Given the description of an element on the screen output the (x, y) to click on. 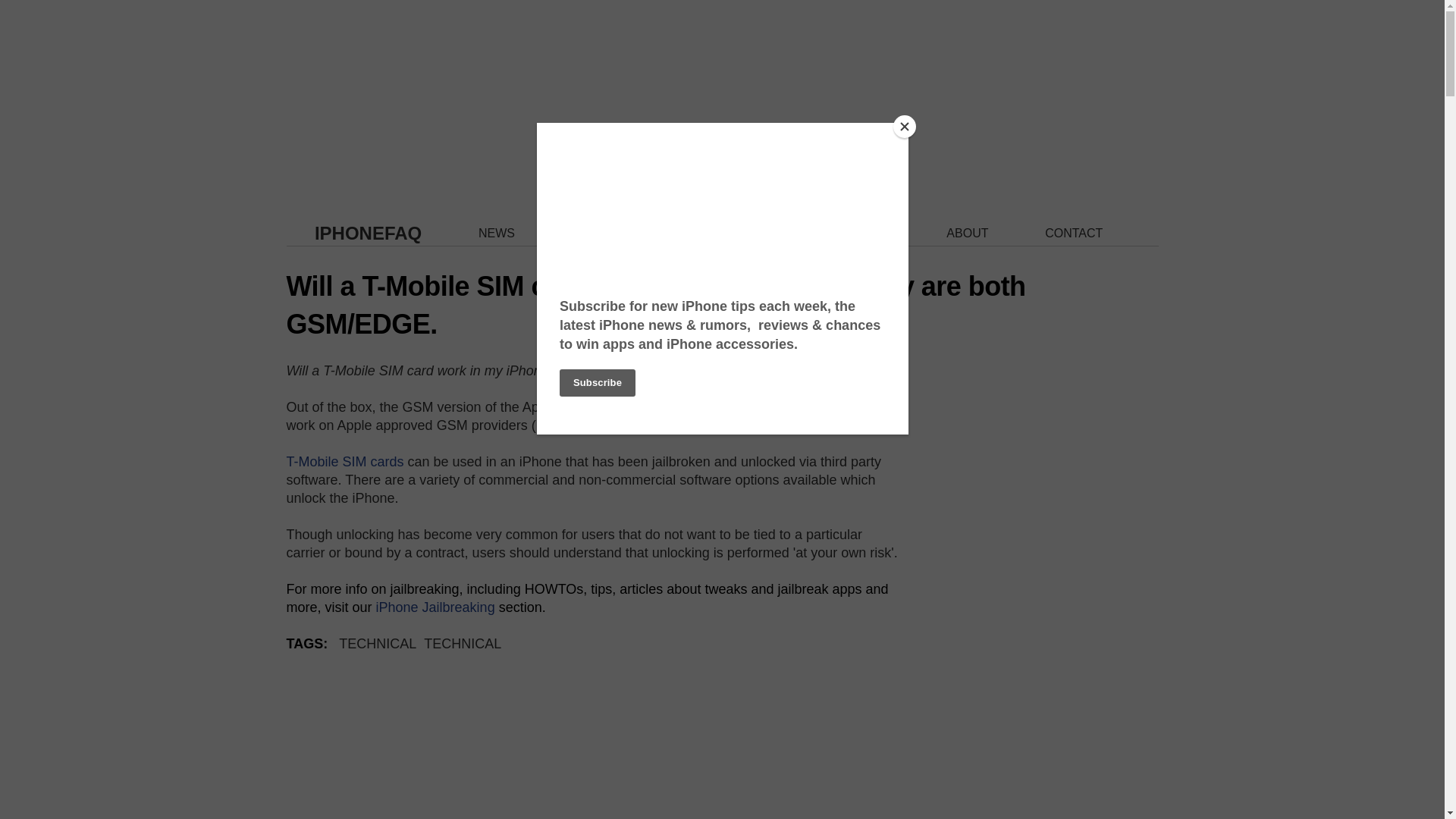
Advertisement (593, 759)
TECHNICAL (377, 643)
3rd party ad content (721, 94)
Tips on how to make the most of your iPhone or iOS device. (769, 232)
T-Mobile SIM cards (345, 461)
TECHNICAL (461, 643)
iPhone Jailbreaking (435, 607)
The latest iPhone and iOS related news. (497, 232)
Learn more about The iPhone FAQ. (967, 232)
homepage (368, 232)
3rd party ad content (1044, 479)
Search all our iPhone and iOS articles and FAQs. (864, 232)
Contact us with your questions or comments. (1073, 232)
